Given the description of an element on the screen output the (x, y) to click on. 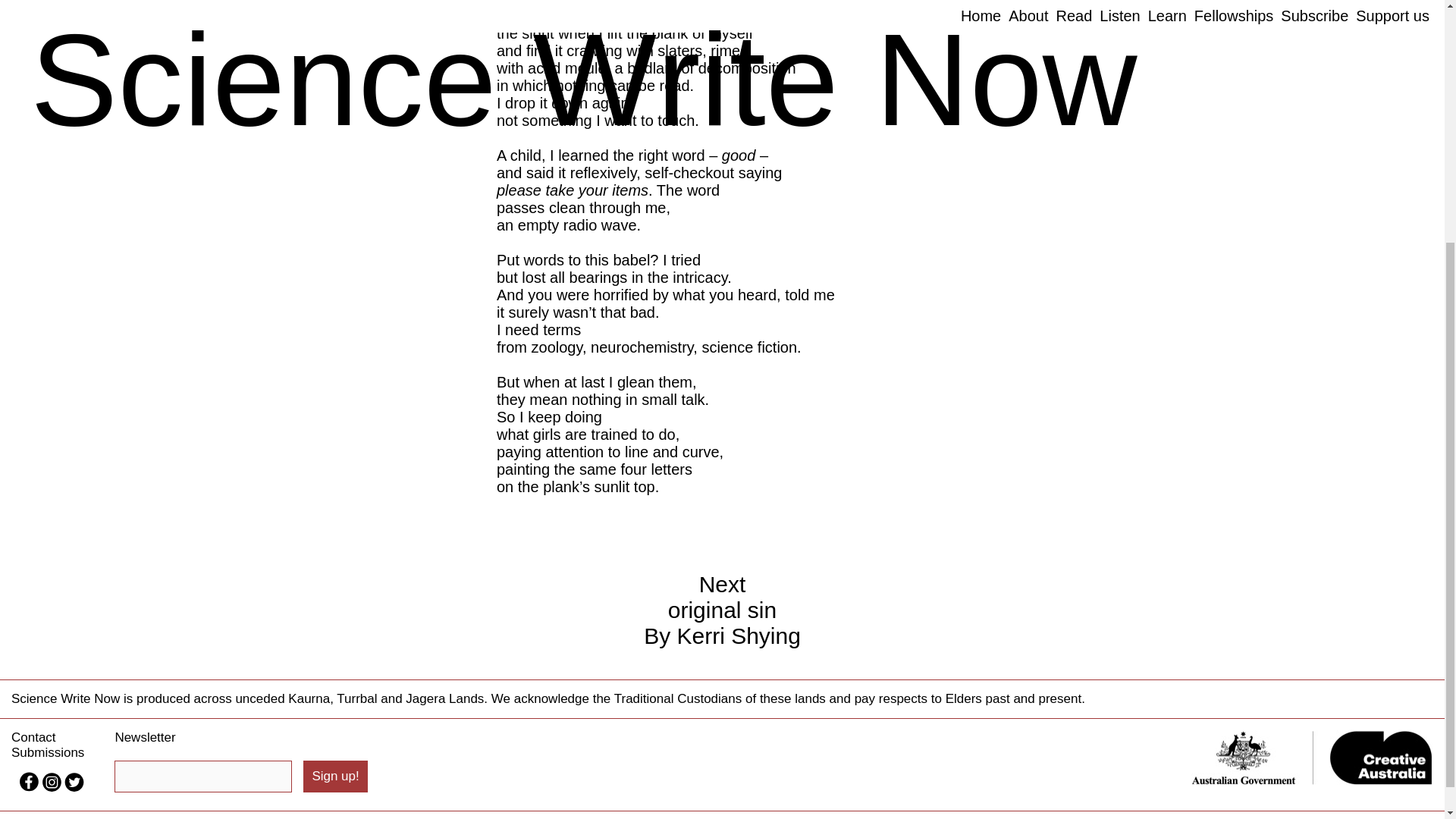
find us in instagram.com (721, 610)
Sign up! (53, 787)
Contact (334, 776)
Sign up! (33, 737)
Submissions (334, 776)
find us in twitter.com (47, 752)
Share on Facebook (74, 787)
find us in facebook.com (166, 3)
